Given the description of an element on the screen output the (x, y) to click on. 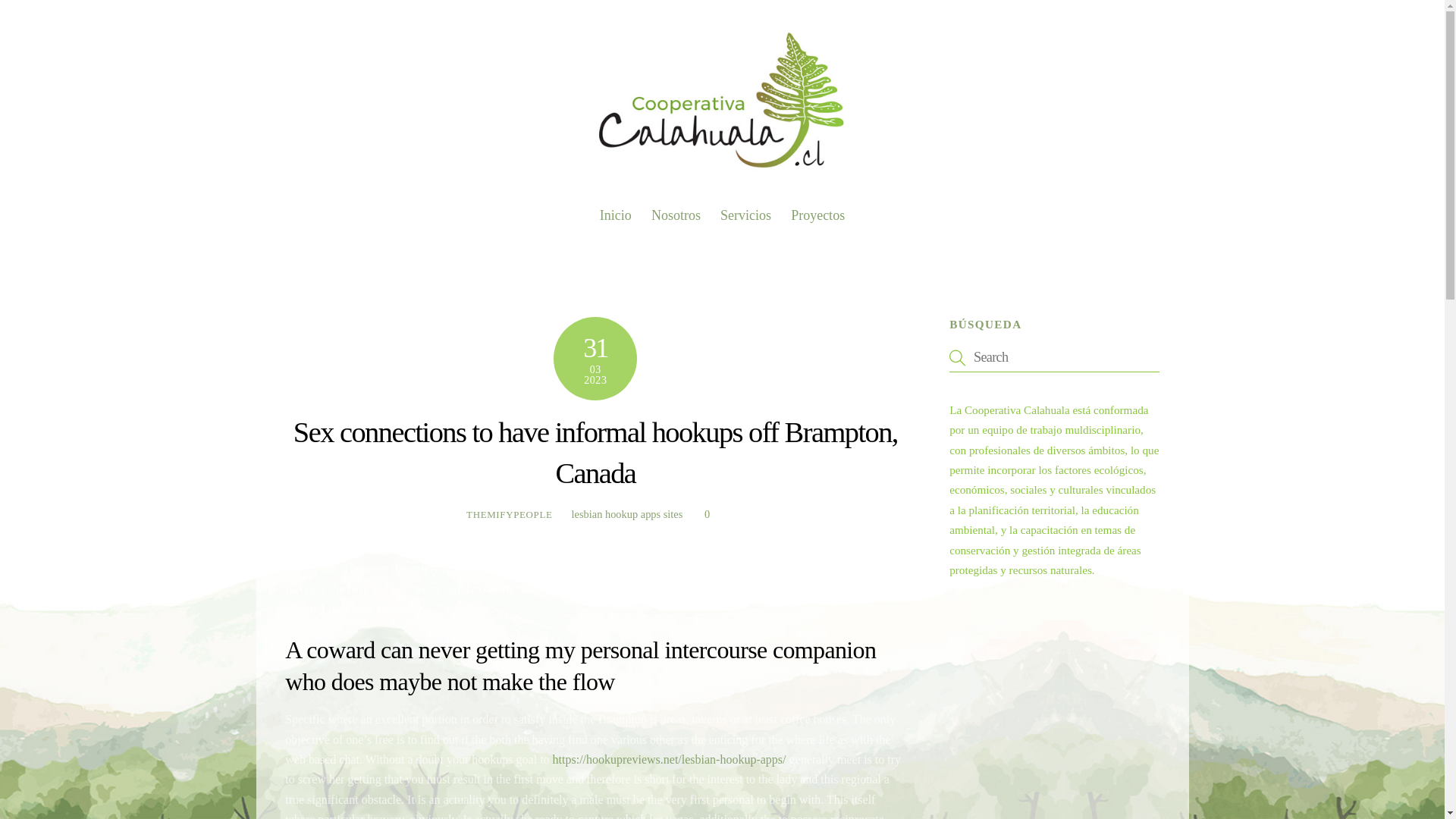
Inicio (615, 215)
THEMIFYPEOPLE (509, 514)
lesbian hookup apps sites (627, 513)
Servicios (744, 215)
Proyectos (721, 209)
Nosotros (818, 215)
Search (676, 215)
Cooperativa Calahuala (1053, 357)
